Given the description of an element on the screen output the (x, y) to click on. 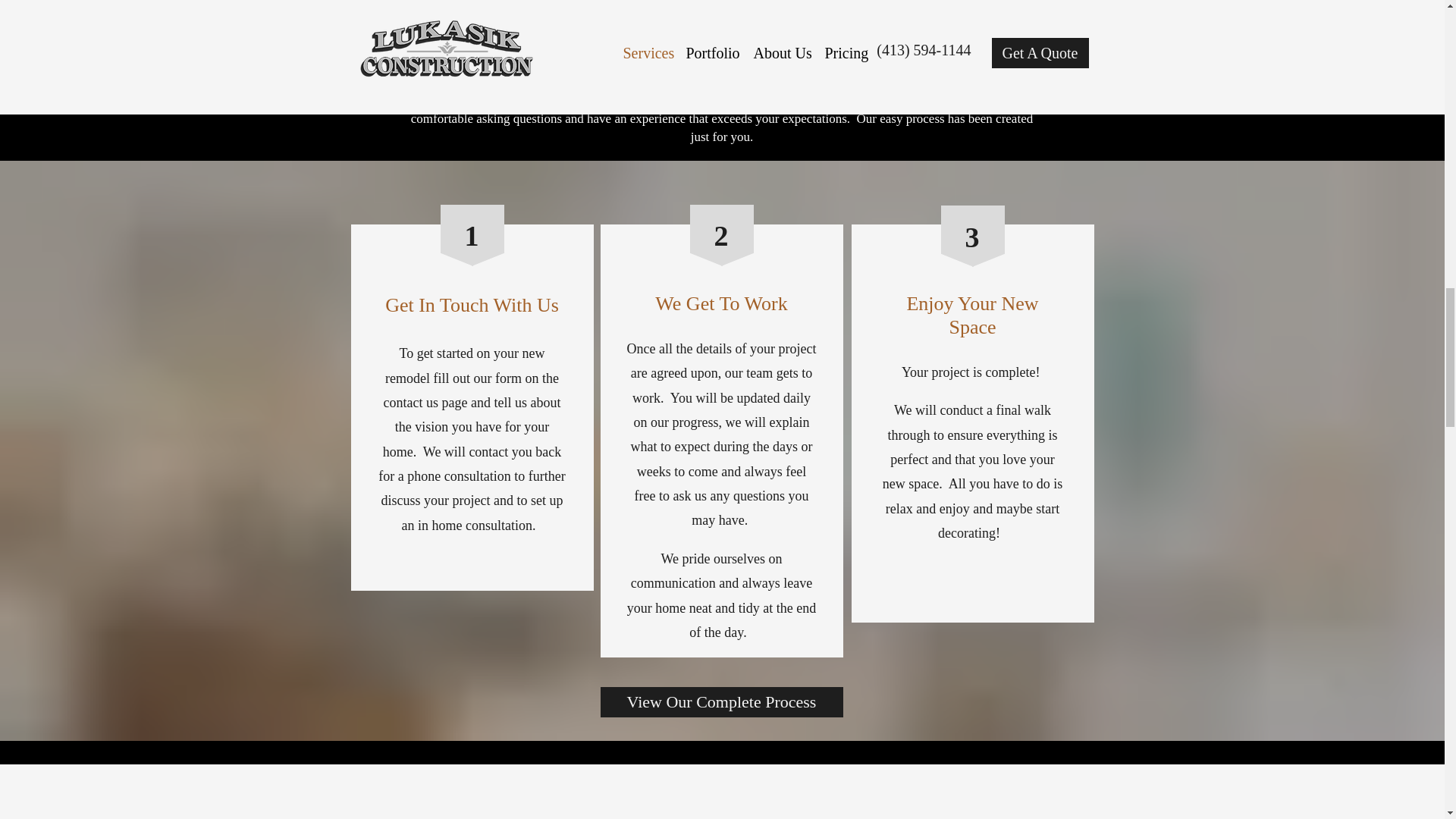
View Our Complete Process (721, 702)
